Given the description of an element on the screen output the (x, y) to click on. 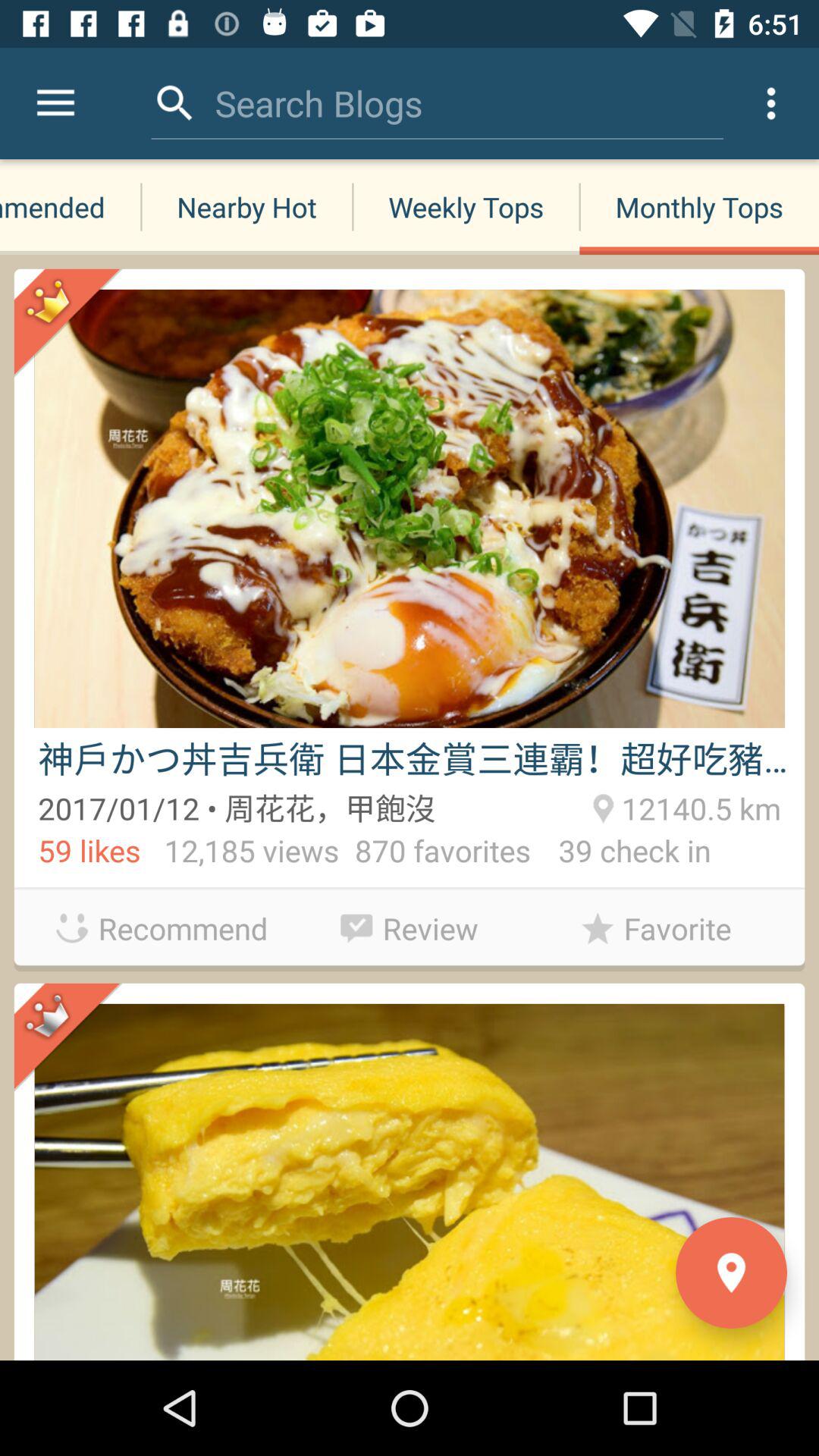
turn on item next to the monthly tops (465, 206)
